Given the description of an element on the screen output the (x, y) to click on. 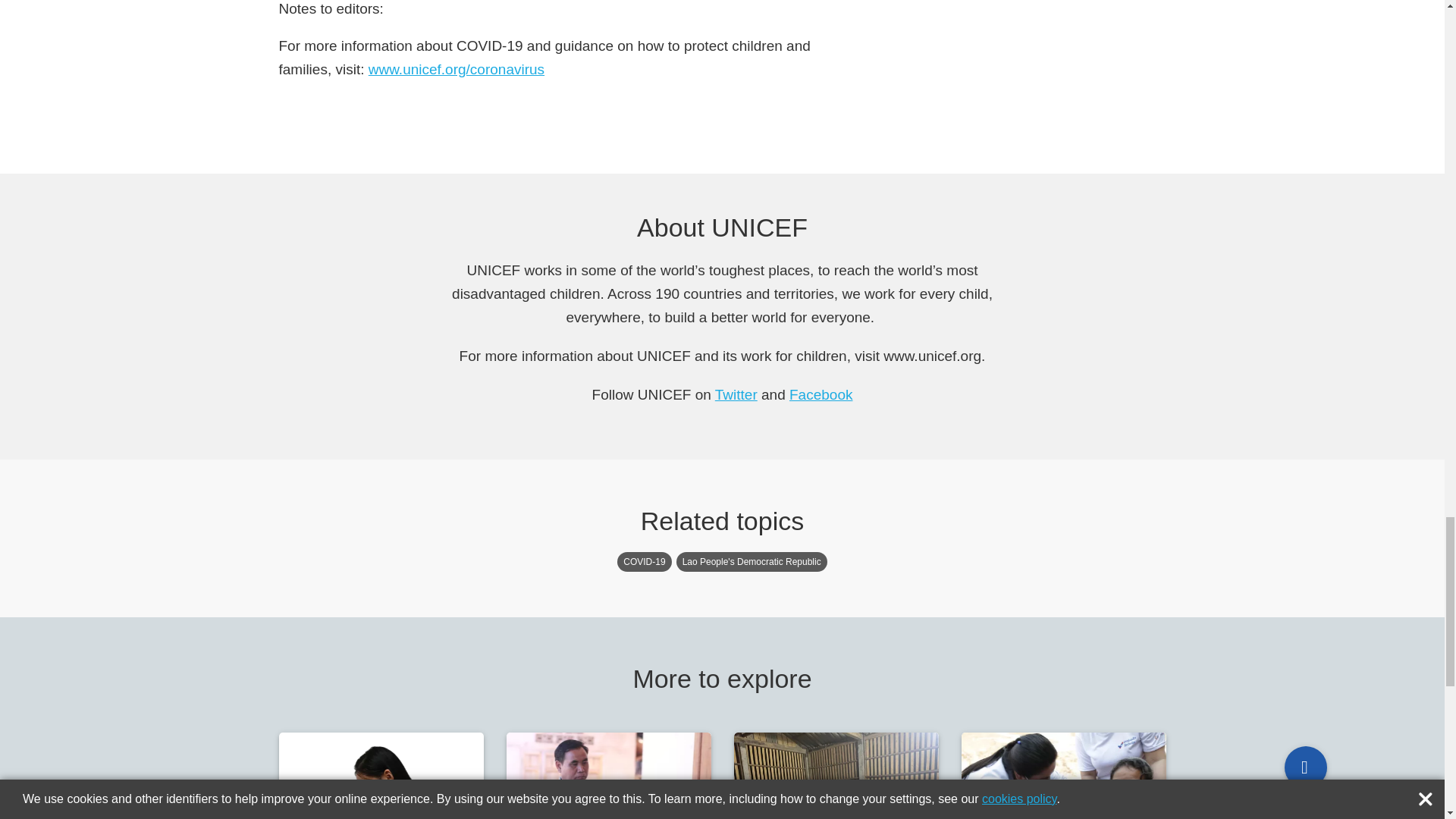
UNICEF Laos (735, 394)
Twitter (735, 394)
Vaccinating Laos, One Village at a Time (1063, 775)
COVID-19 (381, 775)
COVID-19 (644, 561)
Lao People's Democratic Republic (381, 775)
Facebook (752, 561)
Strength in Unity (820, 394)
UNICEF Laos (836, 775)
